Given the description of an element on the screen output the (x, y) to click on. 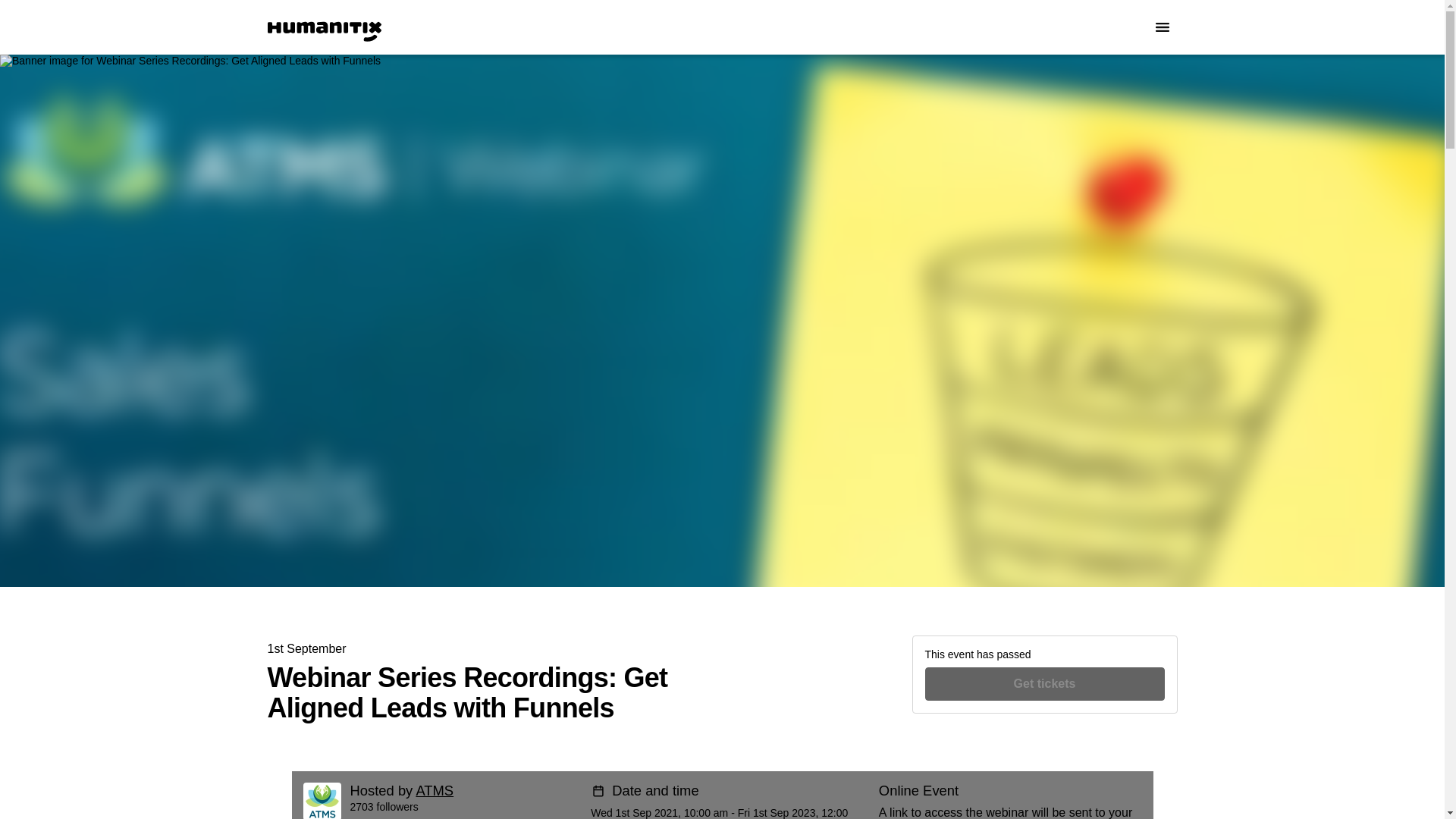
Get tickets (1044, 684)
Skip to Content (18, 18)
ATMS (433, 790)
